Given the description of an element on the screen output the (x, y) to click on. 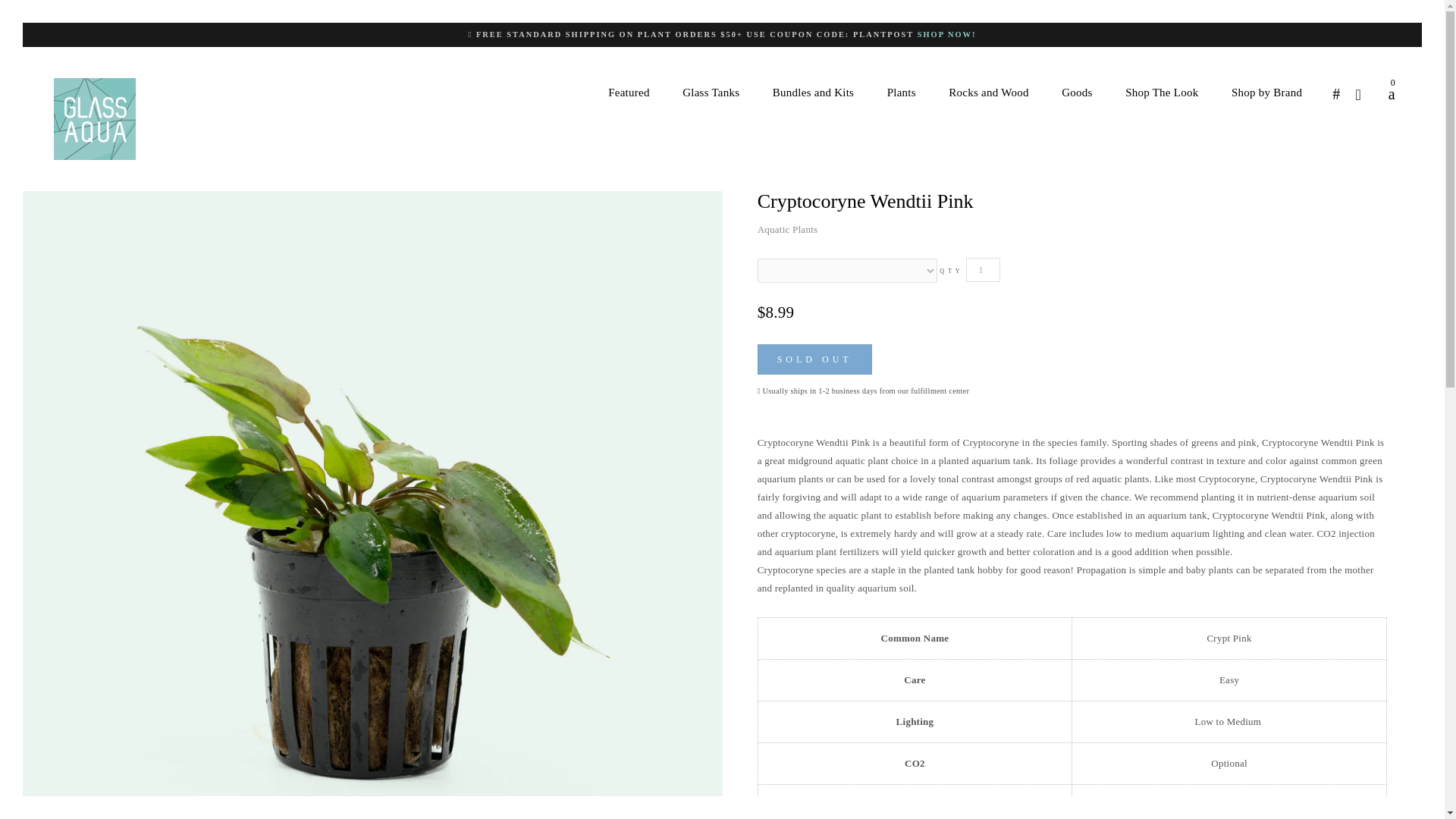
SHOP NOW! (946, 34)
Bundles and Kits (813, 92)
Sold Out (814, 358)
0 (1384, 94)
Glass Tanks (710, 92)
1 (983, 269)
